Given the description of an element on the screen output the (x, y) to click on. 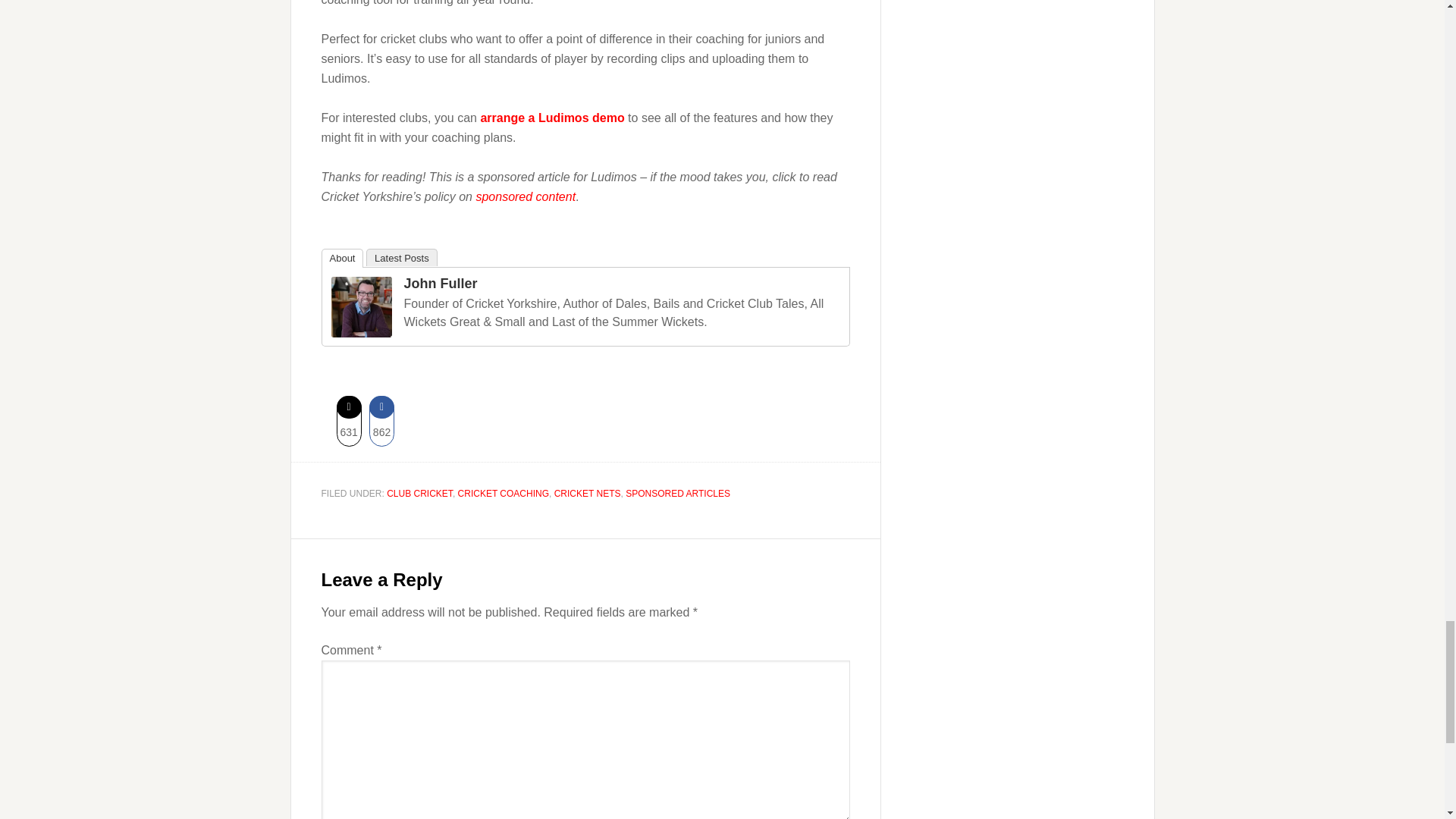
Latest Posts (402, 257)
About (342, 257)
arrange a Ludimos demo (552, 117)
sponsored content (525, 196)
CLUB CRICKET (419, 493)
John Fuller (440, 283)
